Given the description of an element on the screen output the (x, y) to click on. 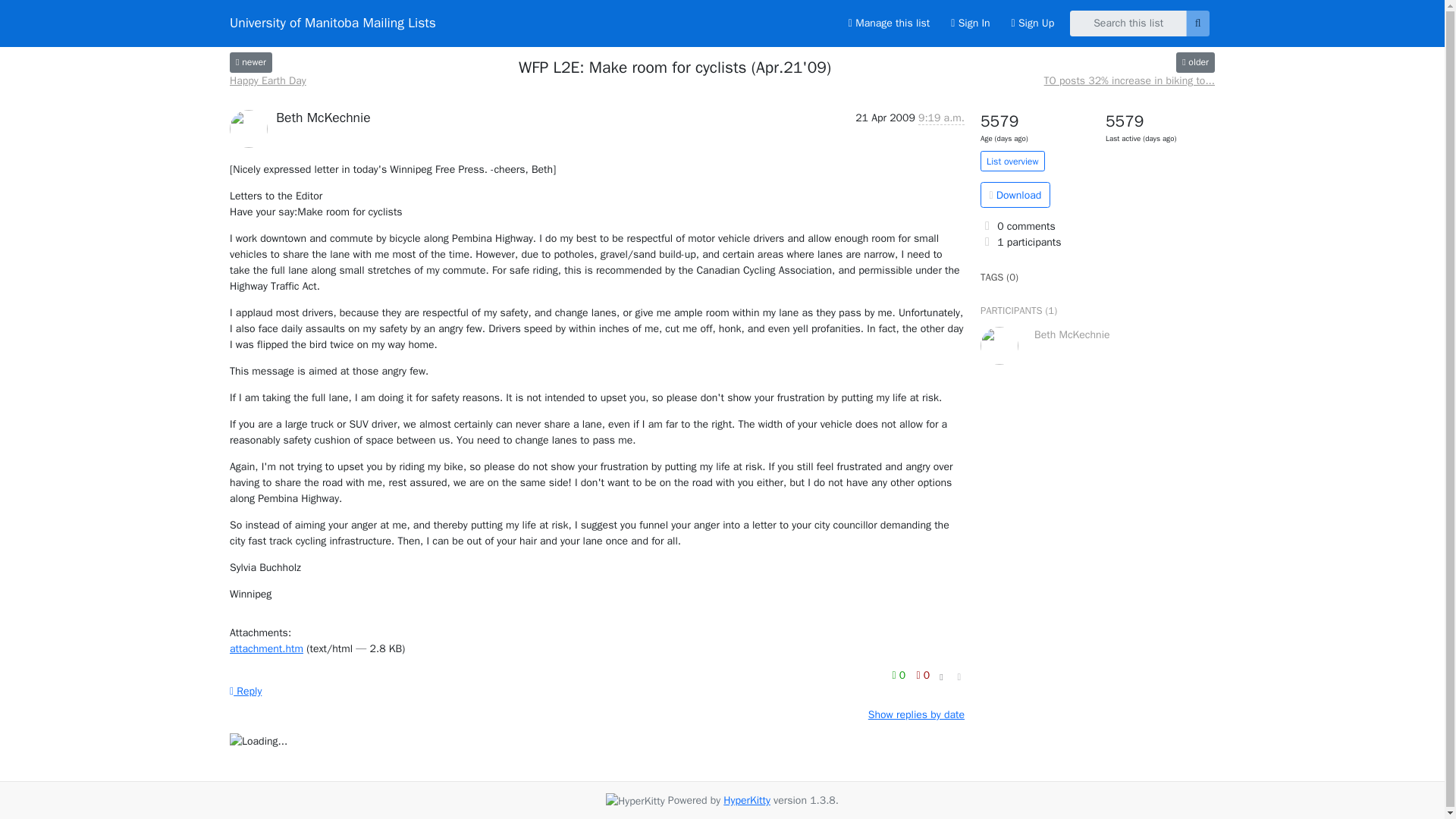
Display in fixed font (941, 677)
Happy Earth Day (267, 80)
You must be logged-in to vote. (922, 675)
Sign In (970, 22)
attachment.htm (266, 648)
Permalink for this message (958, 677)
0 (900, 675)
Happy Earth Day (251, 61)
You must be logged-in to vote. (900, 675)
Show replies by date (915, 714)
Manage this list (889, 22)
older (1195, 61)
Happy Earth Day (267, 80)
Sender's time: April 21, 2009, 9:19 a.m. (940, 118)
Sign in to reply online (246, 690)
